Given the description of an element on the screen output the (x, y) to click on. 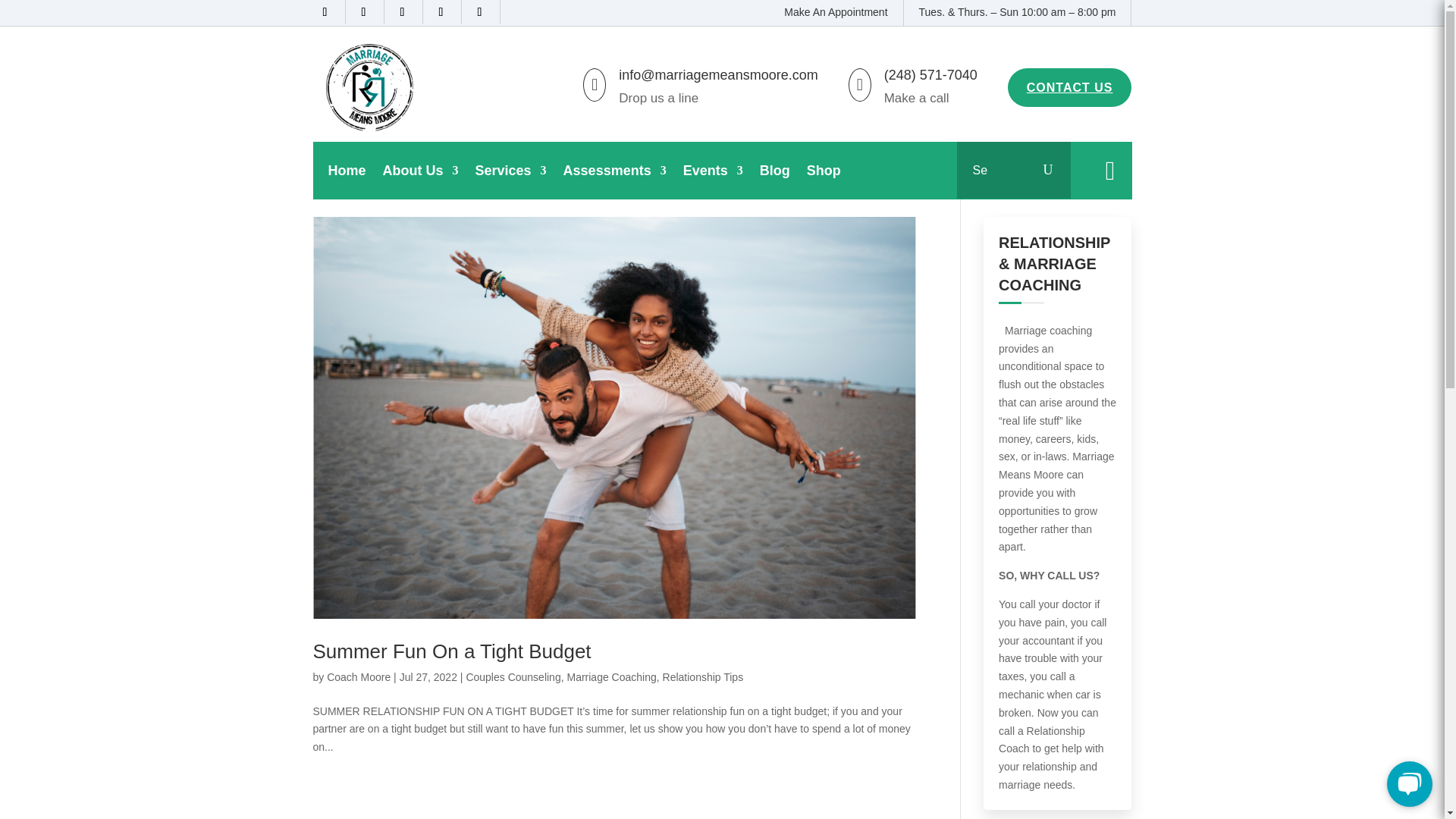
Follow on Youtube (445, 12)
Search (1049, 170)
Shop (823, 173)
Home (346, 173)
Services (511, 173)
Follow on Instagram (406, 12)
Events (712, 173)
Assessments (614, 173)
Follow on Facebook (329, 12)
Posts by Coach Moore (358, 676)
CONTACT US (1069, 87)
About Us (420, 173)
Follow on TikTok (483, 12)
Blog (775, 173)
Follow on Twitter (368, 12)
